Given the description of an element on the screen output the (x, y) to click on. 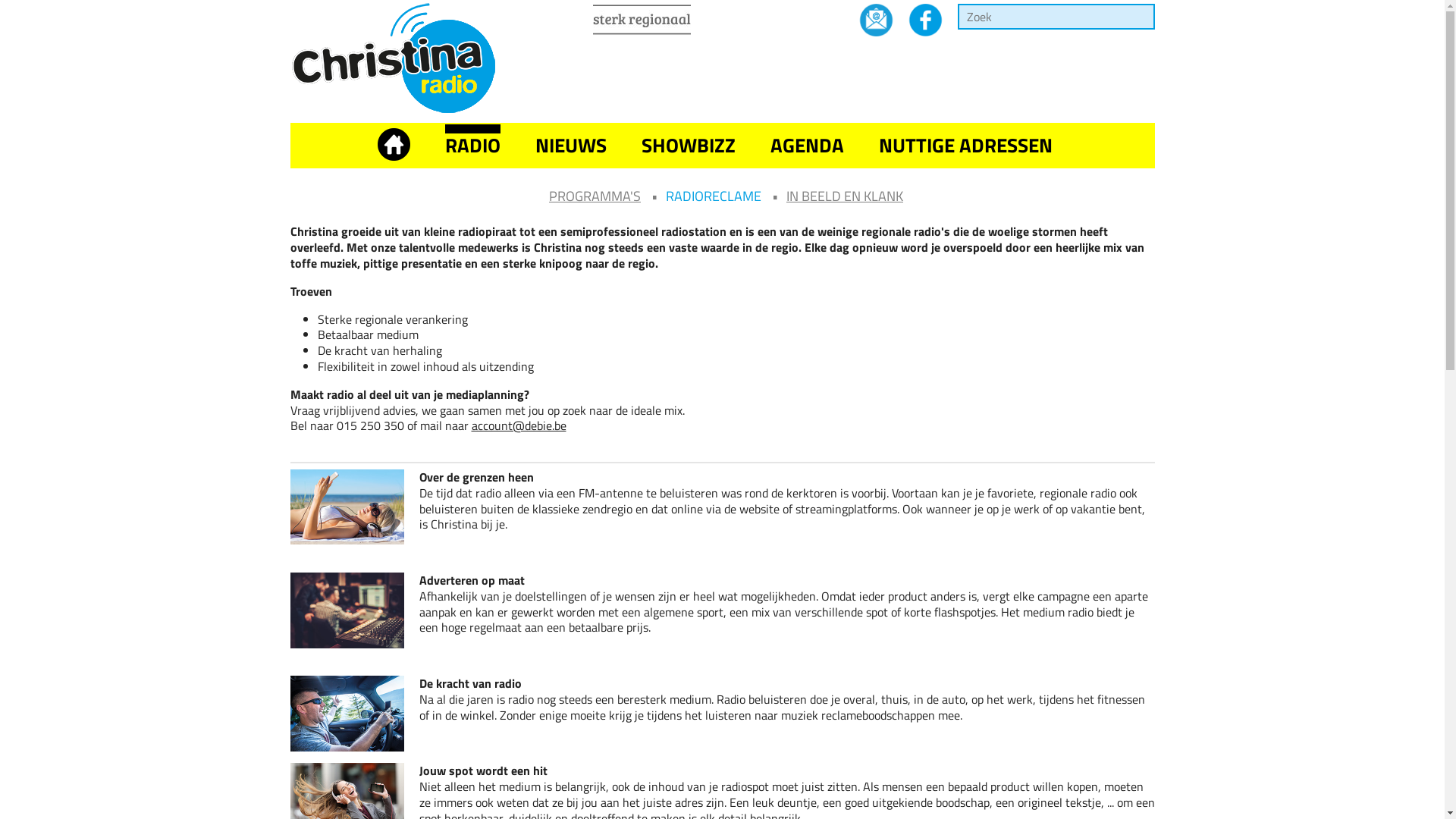
PROGRAMMA'S Element type: text (594, 195)
account@debie.be Element type: text (518, 425)
RADIO Element type: text (471, 145)
AGENDA Element type: text (807, 145)
SHOWBIZZ Element type: text (688, 145)
RADIORECLAME Element type: text (713, 195)
NUTTIGE ADRESSEN Element type: text (964, 145)
IN BEELD EN KLANK Element type: text (844, 195)
NIEUWS Element type: text (570, 145)
